Given the description of an element on the screen output the (x, y) to click on. 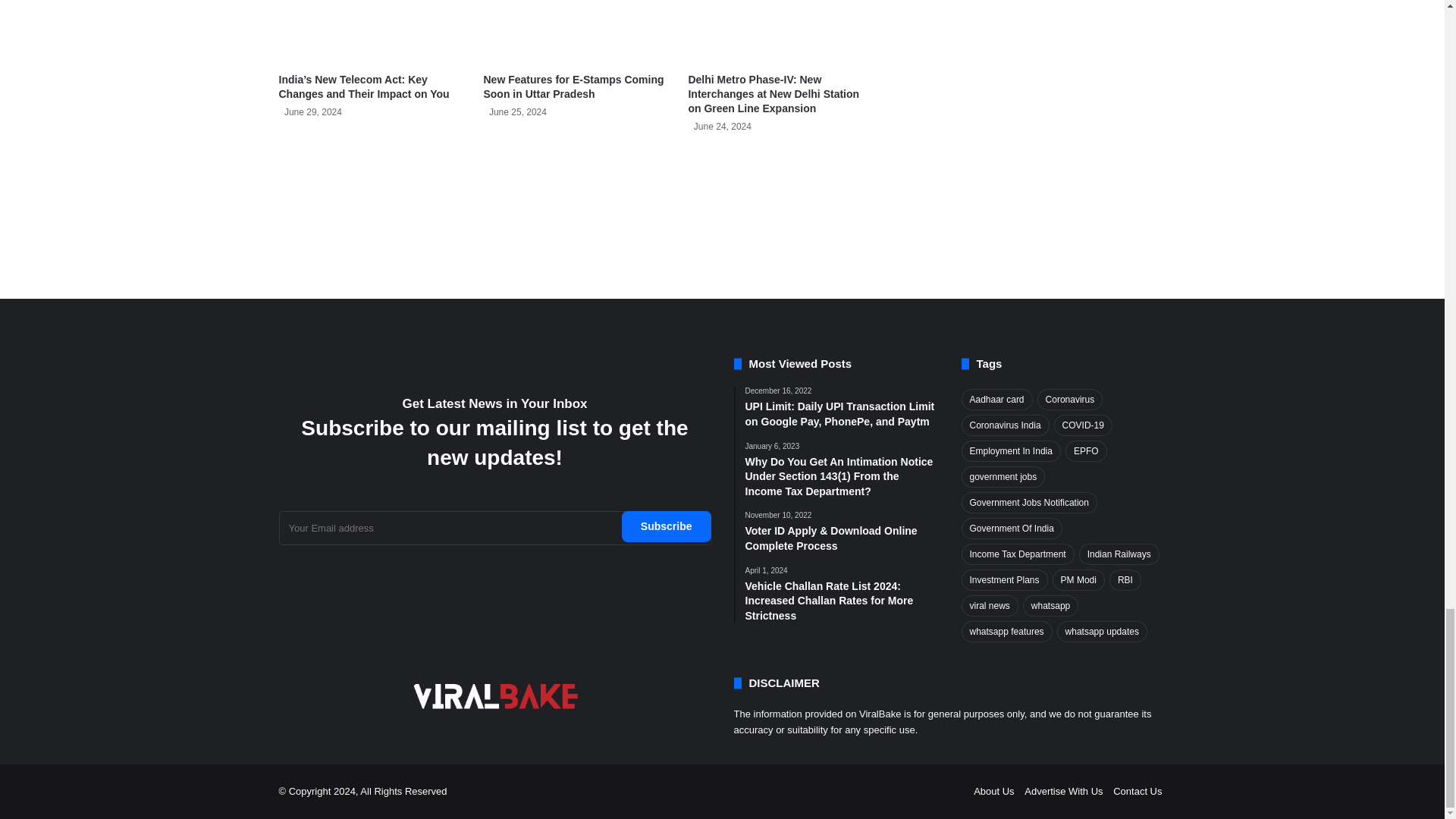
Subscribe (666, 526)
